Given the description of an element on the screen output the (x, y) to click on. 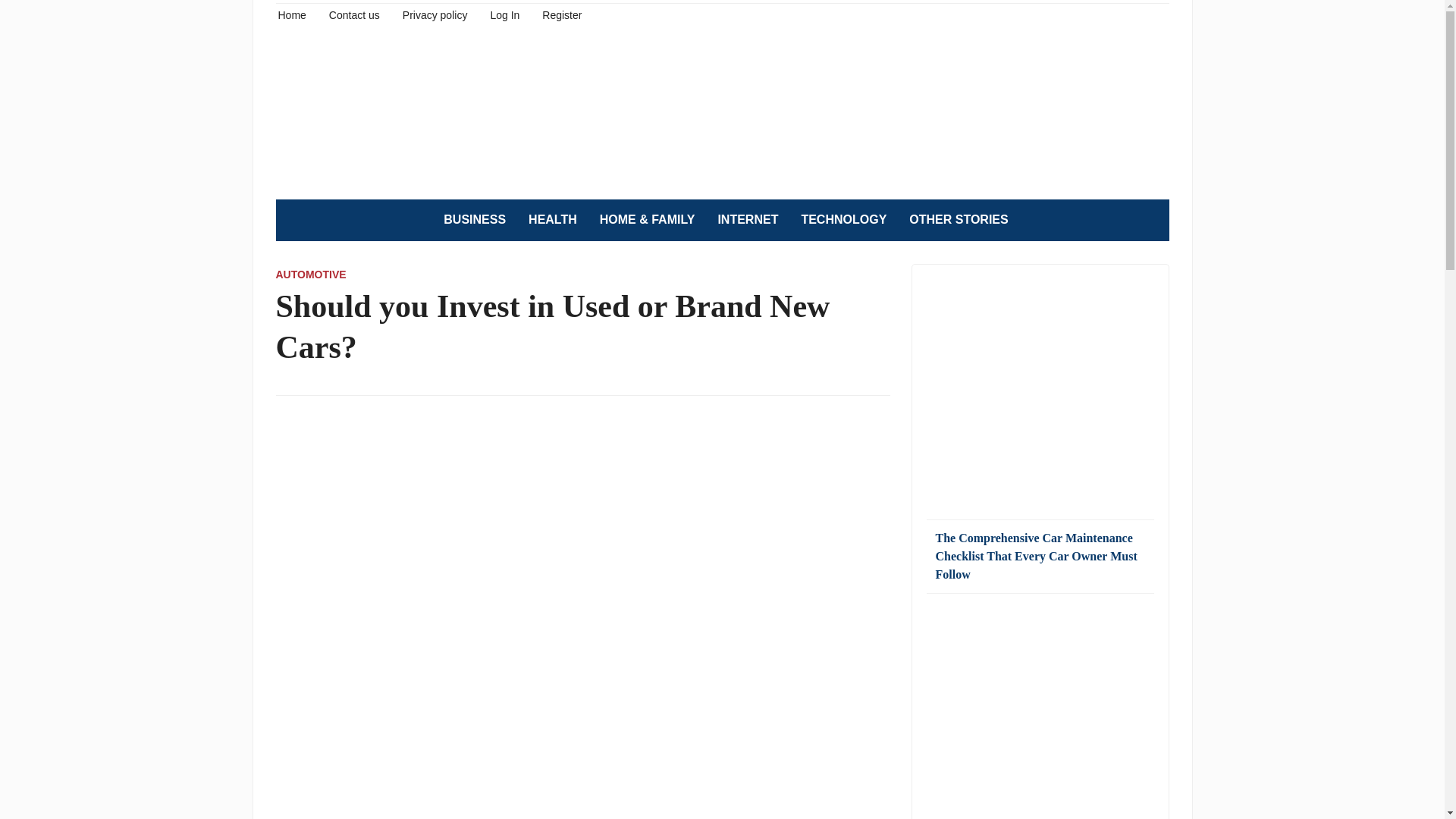
Contact us (354, 14)
Register (560, 14)
Home (291, 14)
Log In (504, 14)
Search (1149, 219)
Privacy policy (435, 14)
